Given the description of an element on the screen output the (x, y) to click on. 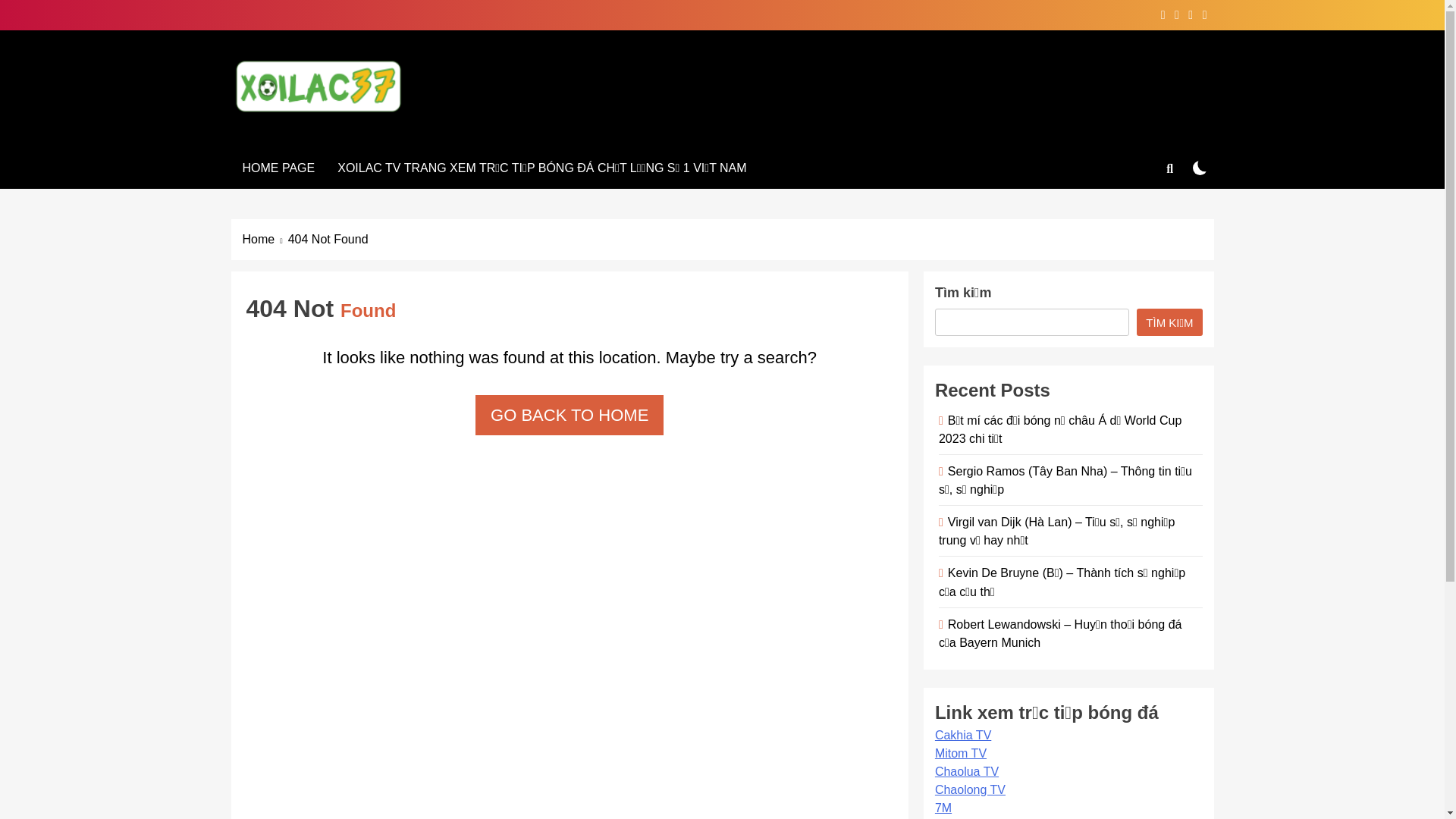
7M Element type: text (943, 807)
Home Element type: text (265, 239)
Cakhia TV Element type: text (963, 734)
Xoilac TV Element type: text (308, 134)
GO BACK TO HOME Element type: text (569, 415)
Chaolong TV Element type: text (970, 789)
Mitom TV Element type: text (960, 752)
HOME PAGE Element type: text (278, 167)
Chaolua TV Element type: text (966, 771)
